Given the description of an element on the screen output the (x, y) to click on. 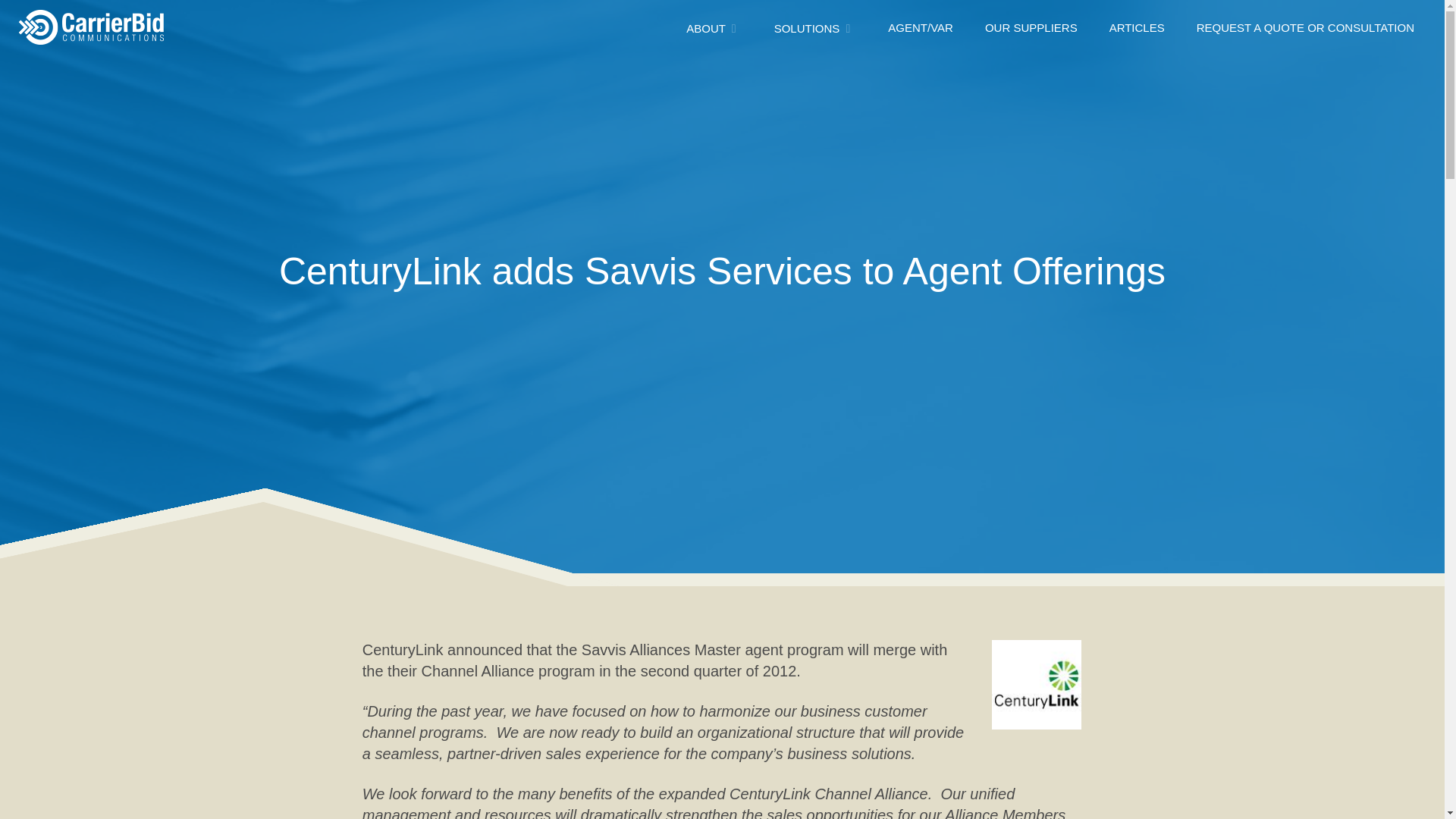
Telecom Consulting and Project Management (721, 78)
Telecom Bill Audits (655, 67)
FAQ (1289, 69)
CenturyLink Business Services (1036, 684)
Data Networking Services for Your Business (442, 78)
Hosting Solutions (93, 67)
Expense Management (721, 69)
Case Studies (1001, 69)
RFP Management and Sourcing (689, 67)
Business Wireless (375, 67)
Cloud Computing (92, 67)
MPLS: Multi Protocol Label Switching (423, 67)
VPN (340, 67)
SD-WAN (351, 67)
Disaster Recovery Services (398, 67)
